Given the description of an element on the screen output the (x, y) to click on. 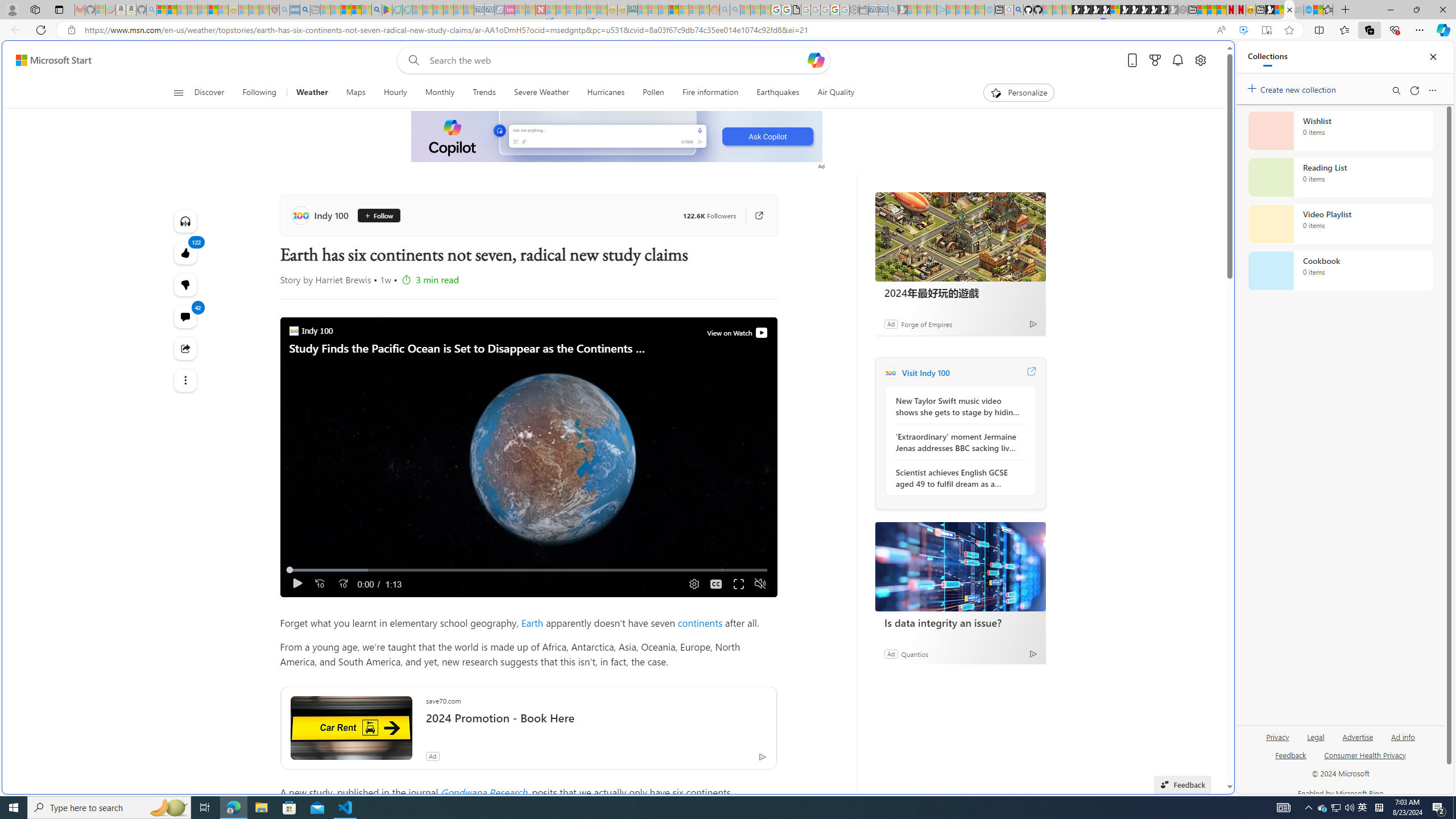
Earth has six continents not seven, radical new study claims (1288, 9)
World - MSN (727, 389)
View on Watch View on Watch (735, 332)
New Report Confirms 2023 Was Record Hot | Watch - Sleeping (202, 9)
